Given the description of an element on the screen output the (x, y) to click on. 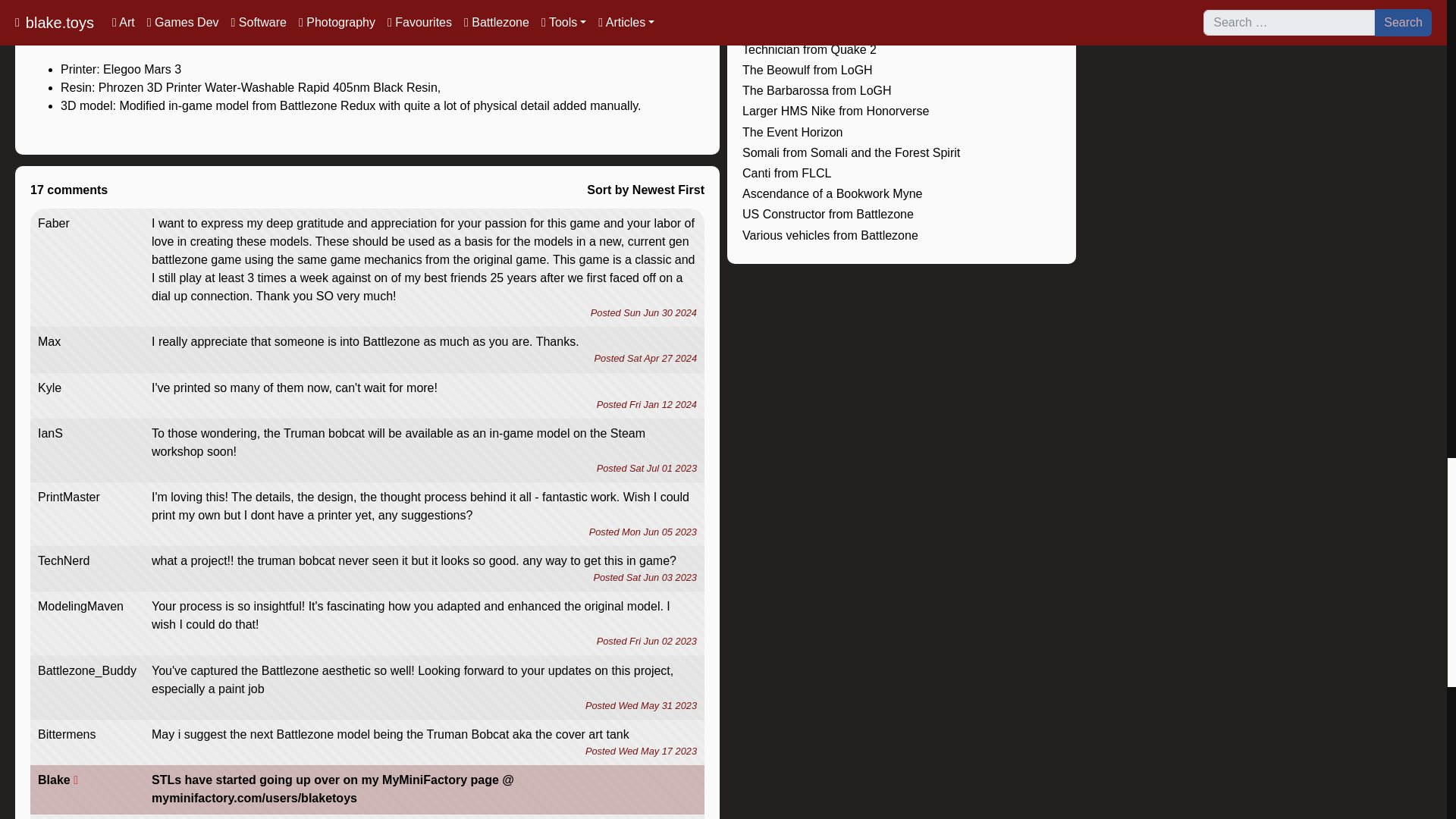
88729d3d83ee28bb7e28b5191aa4bca6 (367, 189)
